Given the description of an element on the screen output the (x, y) to click on. 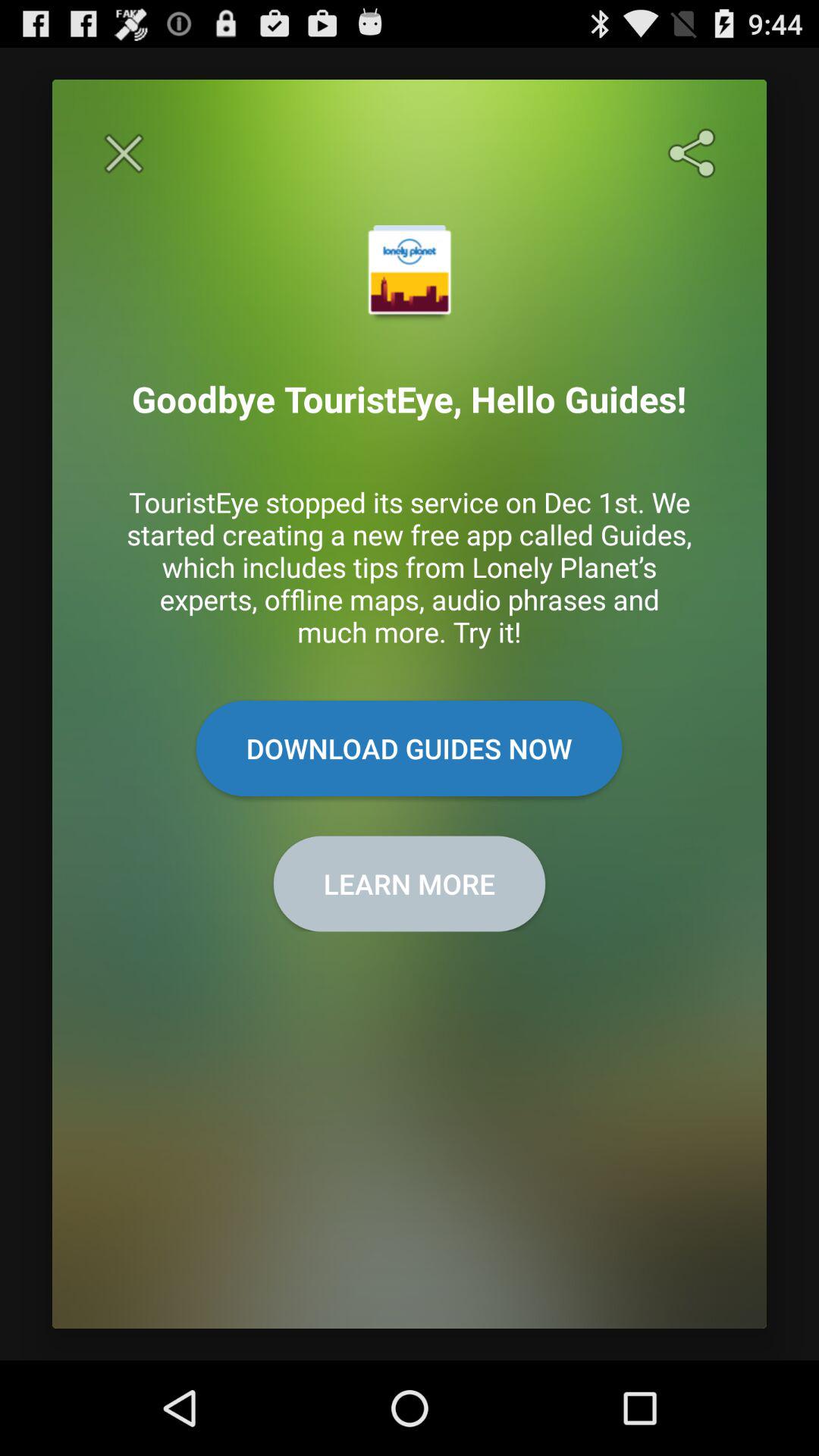
open the item below the touristeye stopped its (409, 748)
